Given the description of an element on the screen output the (x, y) to click on. 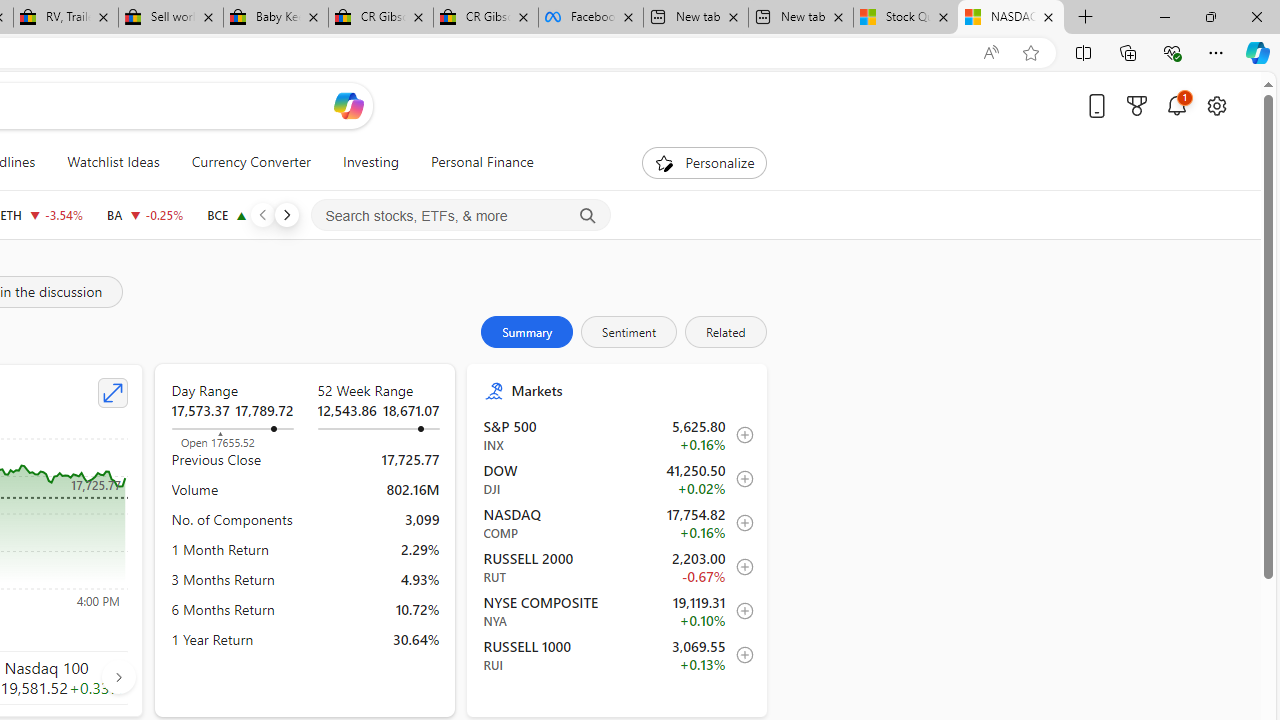
Personalize (703, 162)
Related (724, 331)
RV, Trailer & Camper Steps & Ladders for sale | eBay (65, 17)
BCE BCE Inc increase 35.22 +0.08 +0.23% (249, 214)
Notifications (1176, 105)
Investing (370, 162)
Baby Keepsakes & Announcements for sale | eBay (275, 17)
COMP NASDAQ increase 17,754.82 +29.06 +0.16% itemundefined (617, 523)
Watchlist Ideas (113, 162)
